Given the description of an element on the screen output the (x, y) to click on. 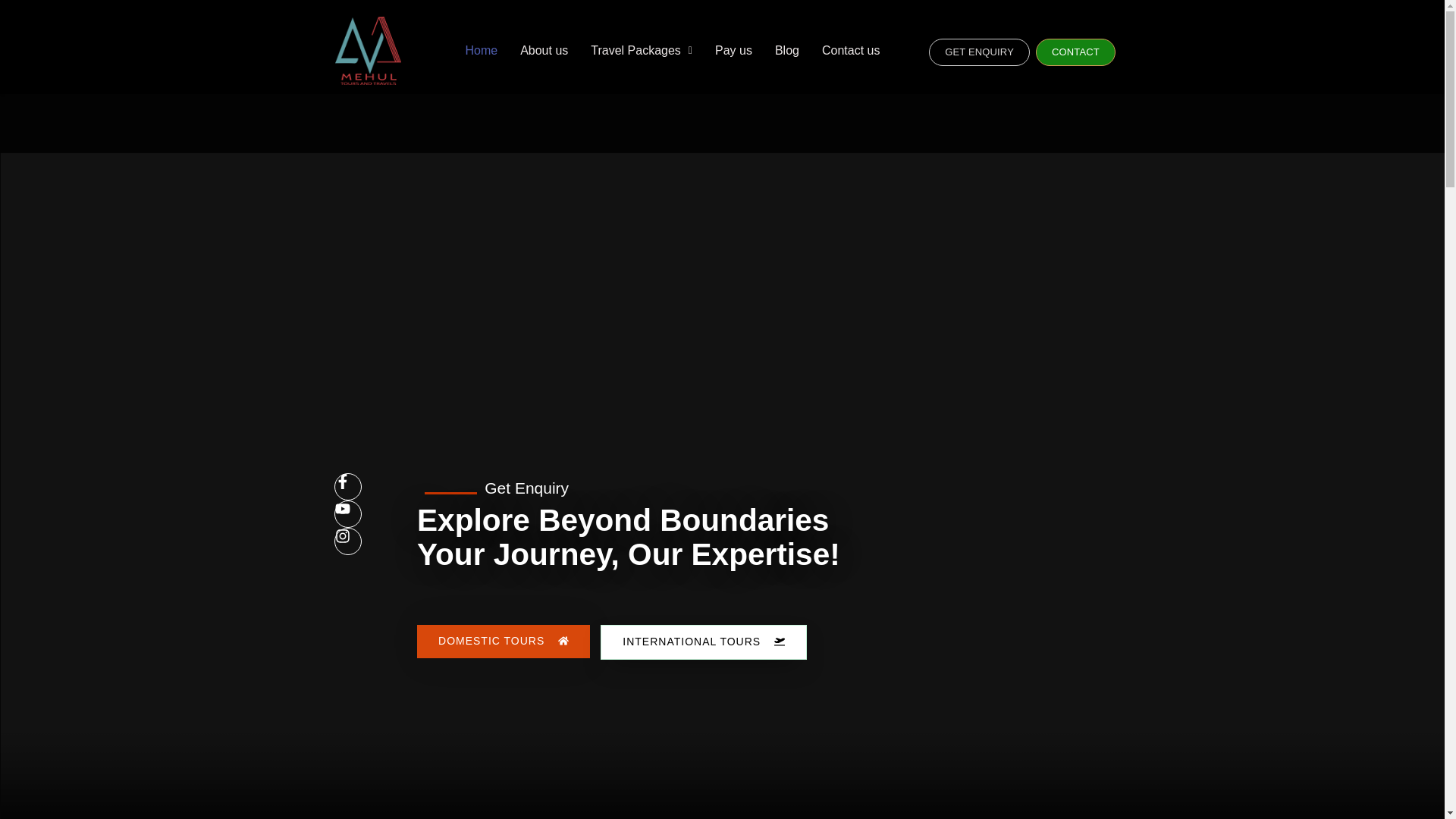
GET ENQUIRY (978, 52)
DOMESTIC TOURS (502, 641)
Pay us (732, 50)
Home (480, 50)
About us (543, 50)
Blog (786, 50)
Travel Packages (641, 50)
INTERNATIONAL TOURS (702, 642)
Contact us (850, 50)
CONTACT (1075, 52)
